Given the description of an element on the screen output the (x, y) to click on. 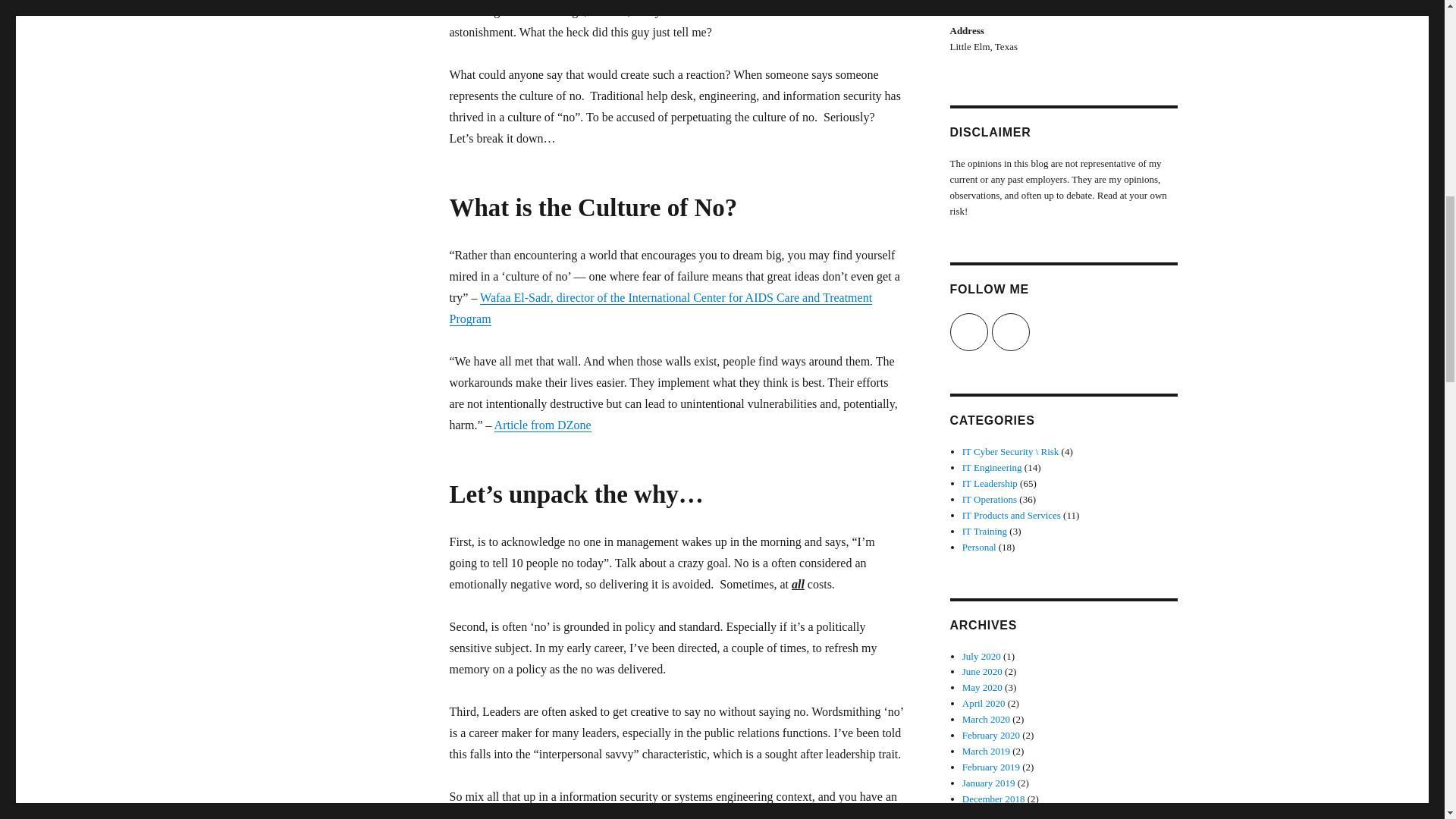
Personal (978, 546)
IT Training (984, 531)
IT Products and Services (1011, 514)
July 2020 (981, 655)
IT Leadership (989, 482)
March 2019 (986, 750)
Article from DZone (543, 424)
April 2020 (984, 703)
IT Engineering (992, 467)
